Given the description of an element on the screen output the (x, y) to click on. 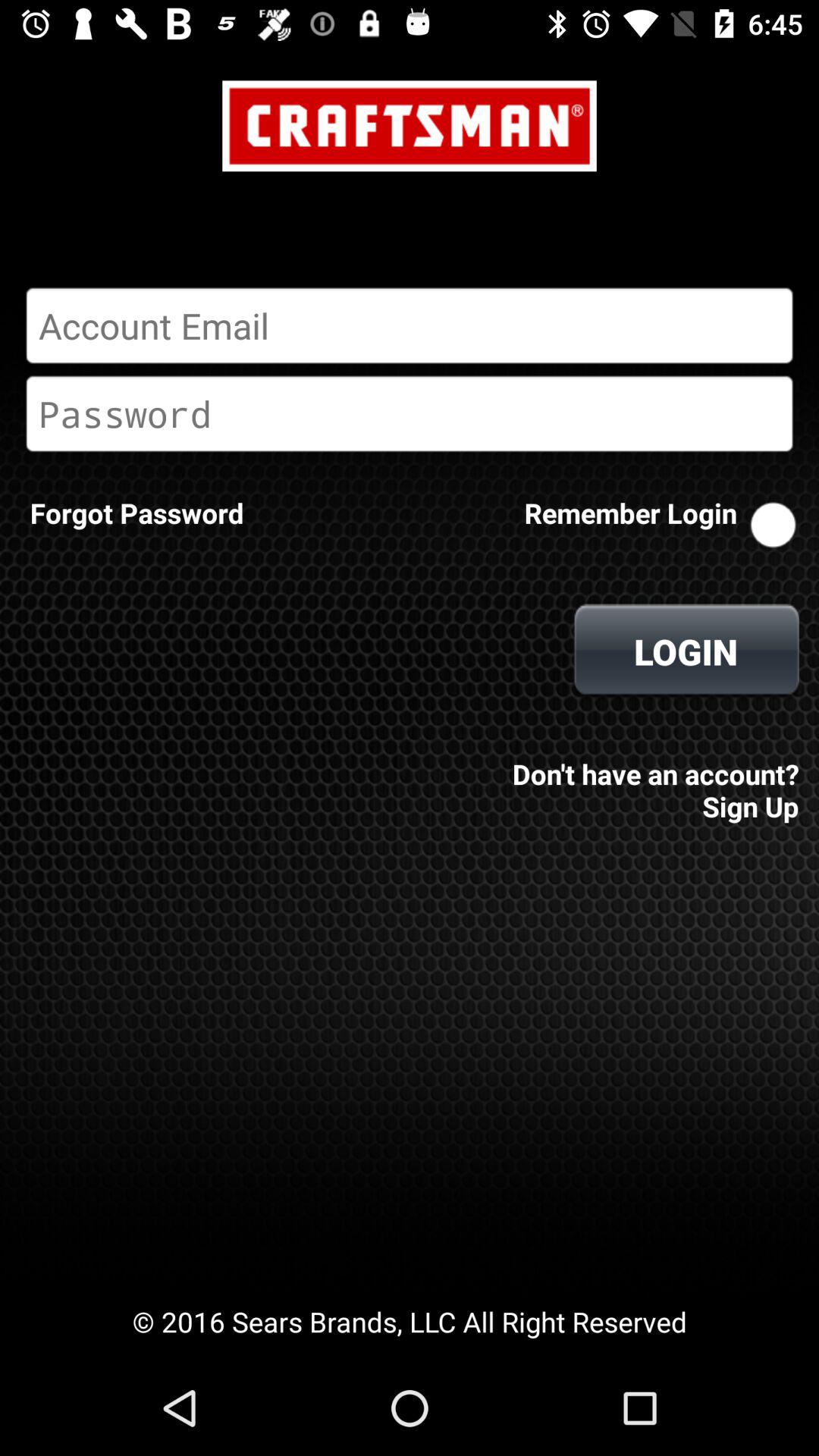
select icon next to the remember login item (136, 512)
